Given the description of an element on the screen output the (x, y) to click on. 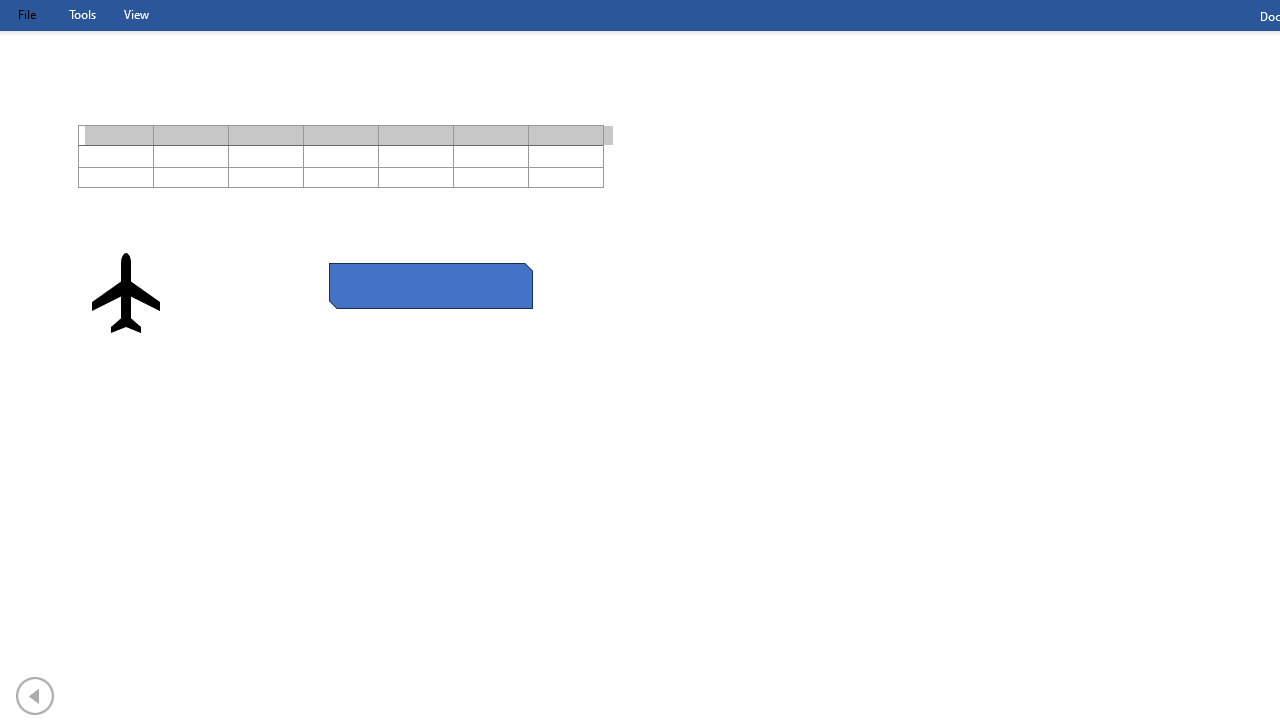
Tools (82, 14)
